Given the description of an element on the screen output the (x, y) to click on. 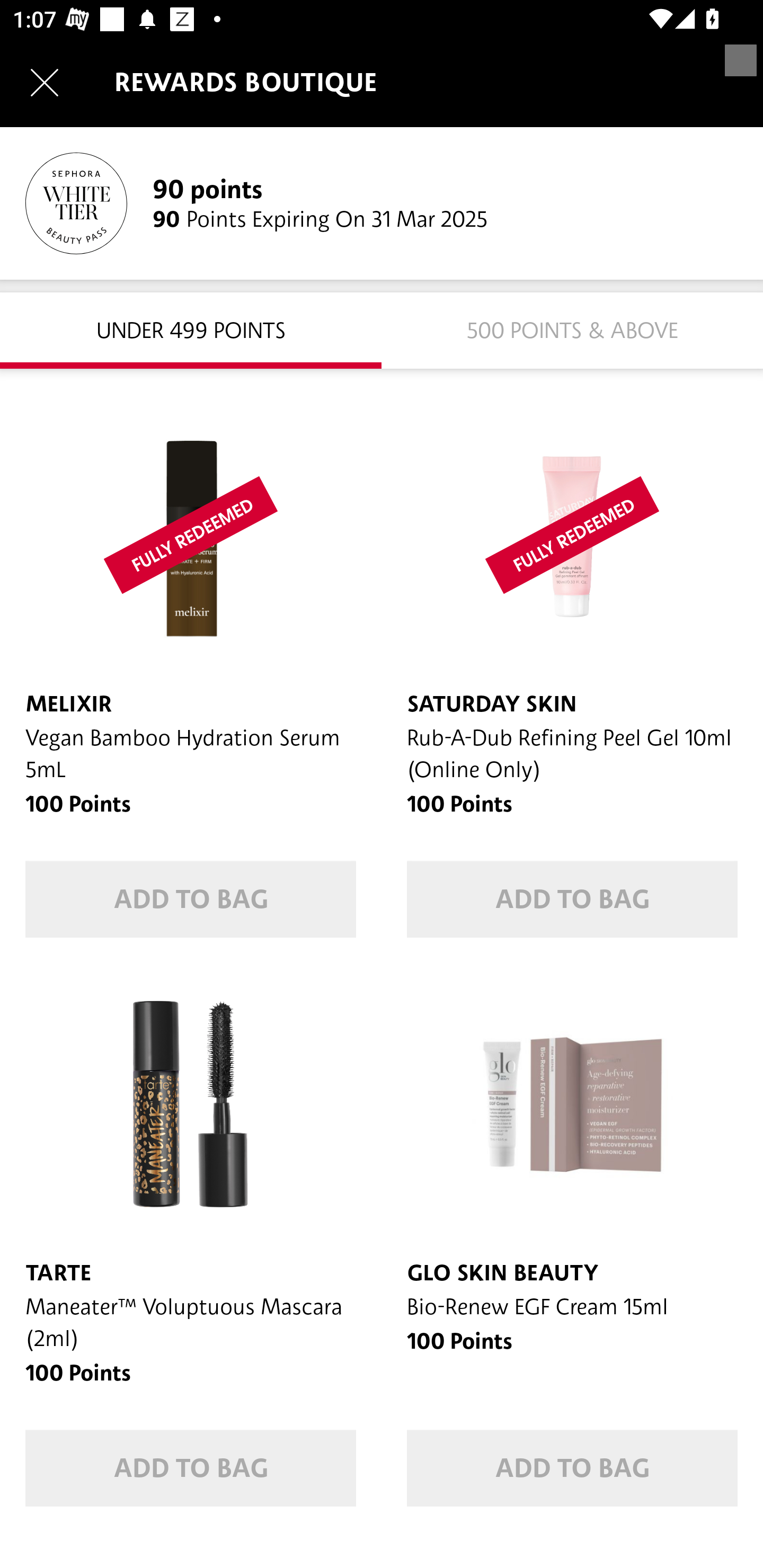
Navigate up (44, 82)
500 Points & Above 500 POINTS & ABOVE (572, 329)
ADD TO BAG (190, 898)
ADD TO BAG (571, 898)
ADD TO BAG (190, 1468)
ADD TO BAG (571, 1468)
